Given the description of an element on the screen output the (x, y) to click on. 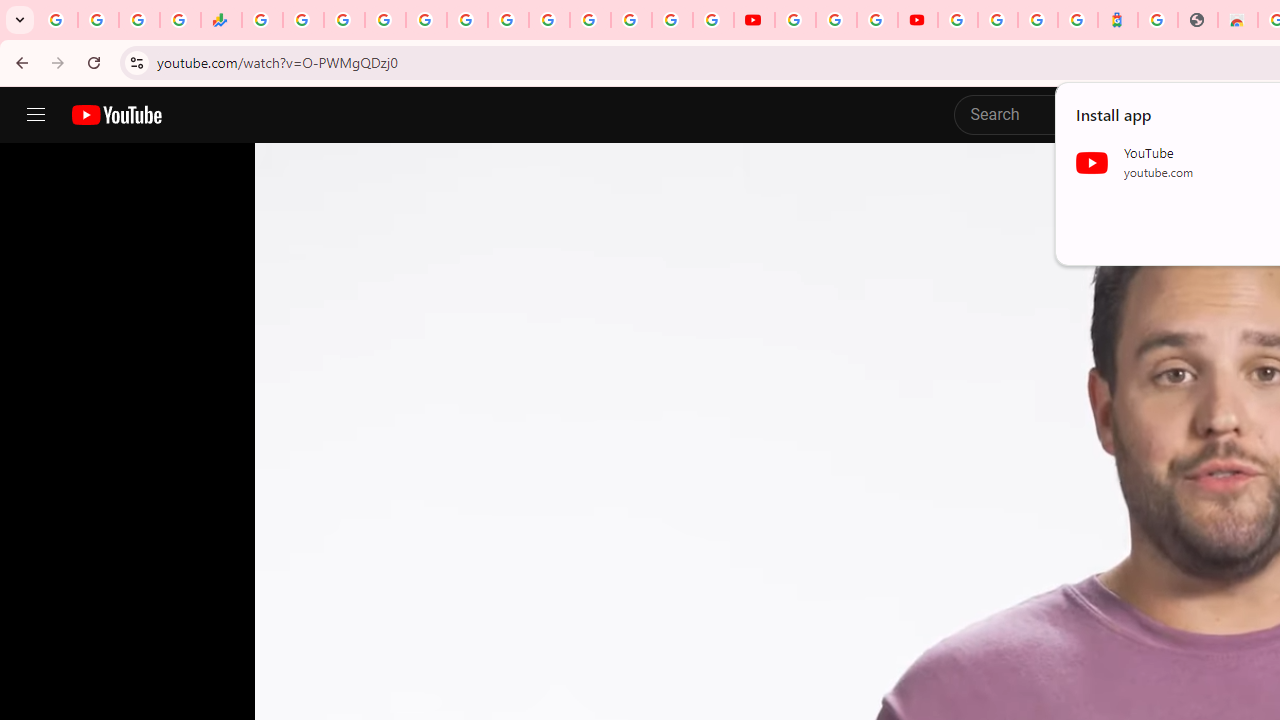
Sign in - Google Accounts (671, 20)
Sign in - Google Accounts (957, 20)
Google Account Help (836, 20)
Privacy Checkup (712, 20)
Android TV Policies and Guidelines - Transparency Center (507, 20)
